Given the description of an element on the screen output the (x, y) to click on. 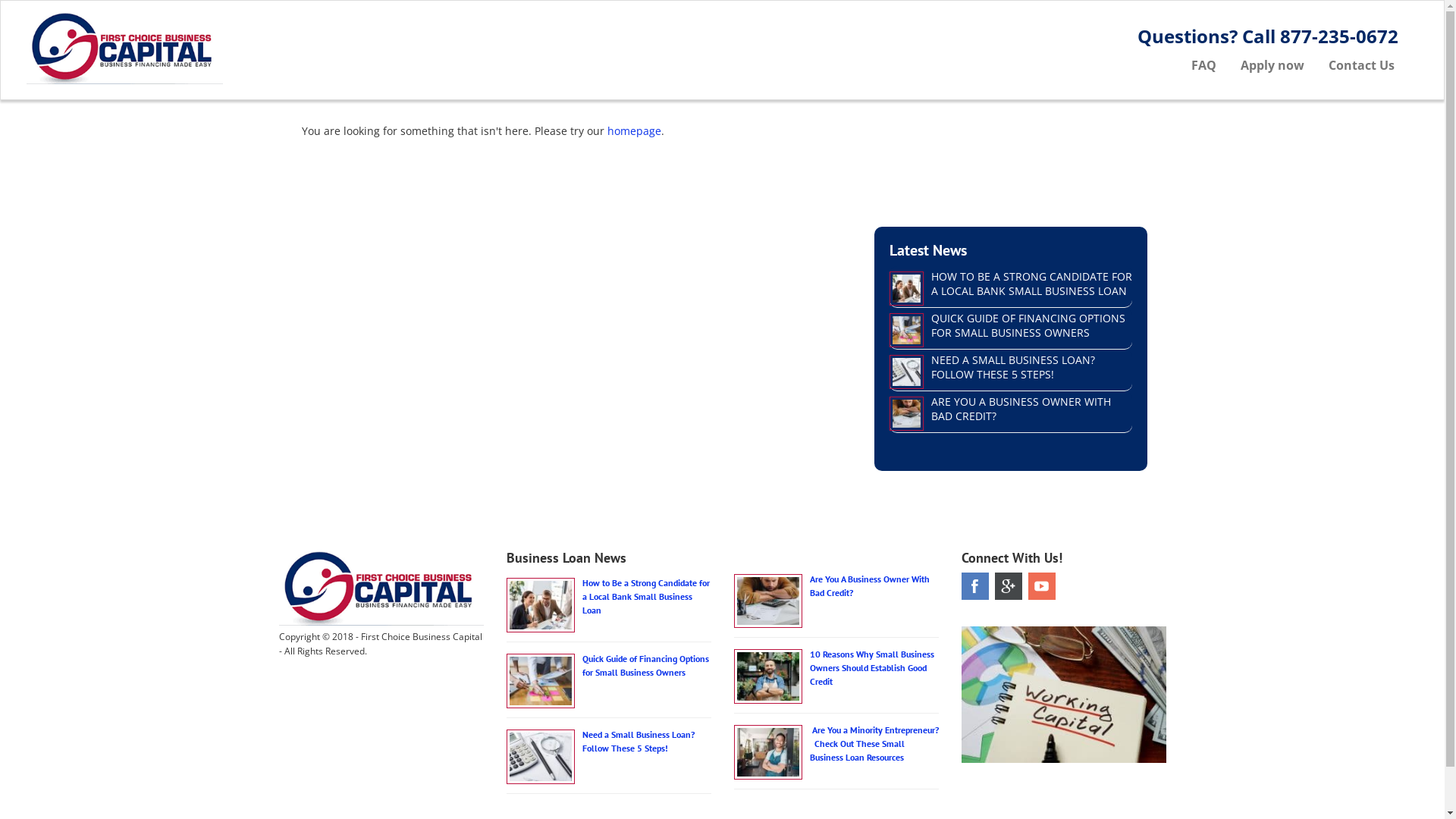
Need a Small Business Loan? Follow These 5 Steps! Element type: text (638, 740)
Quick Guide of Financing Options for Small Business Owners Element type: text (645, 664)
Apply now Element type: text (1272, 64)
FAQ Element type: text (1203, 64)
homepage Element type: text (633, 130)
Are You A Business Owner With Bad Credit? Element type: text (869, 585)
Google Plus Element type: text (1008, 585)
ARE YOU A BUSINESS OWNER WITH BAD CREDIT? Element type: text (1020, 408)
1st Choice Business Capital Element type: hover (250, 46)
NEED A SMALL BUSINESS LOAN? FOLLOW THESE 5 STEPS! Element type: text (1013, 366)
Youtube Element type: text (1041, 585)
Facebook Element type: text (974, 585)
Contact Us Element type: text (1361, 64)
QUICK GUIDE OF FINANCING OPTIONS FOR SMALL BUSINESS OWNERS Element type: text (1028, 324)
